Given the description of an element on the screen output the (x, y) to click on. 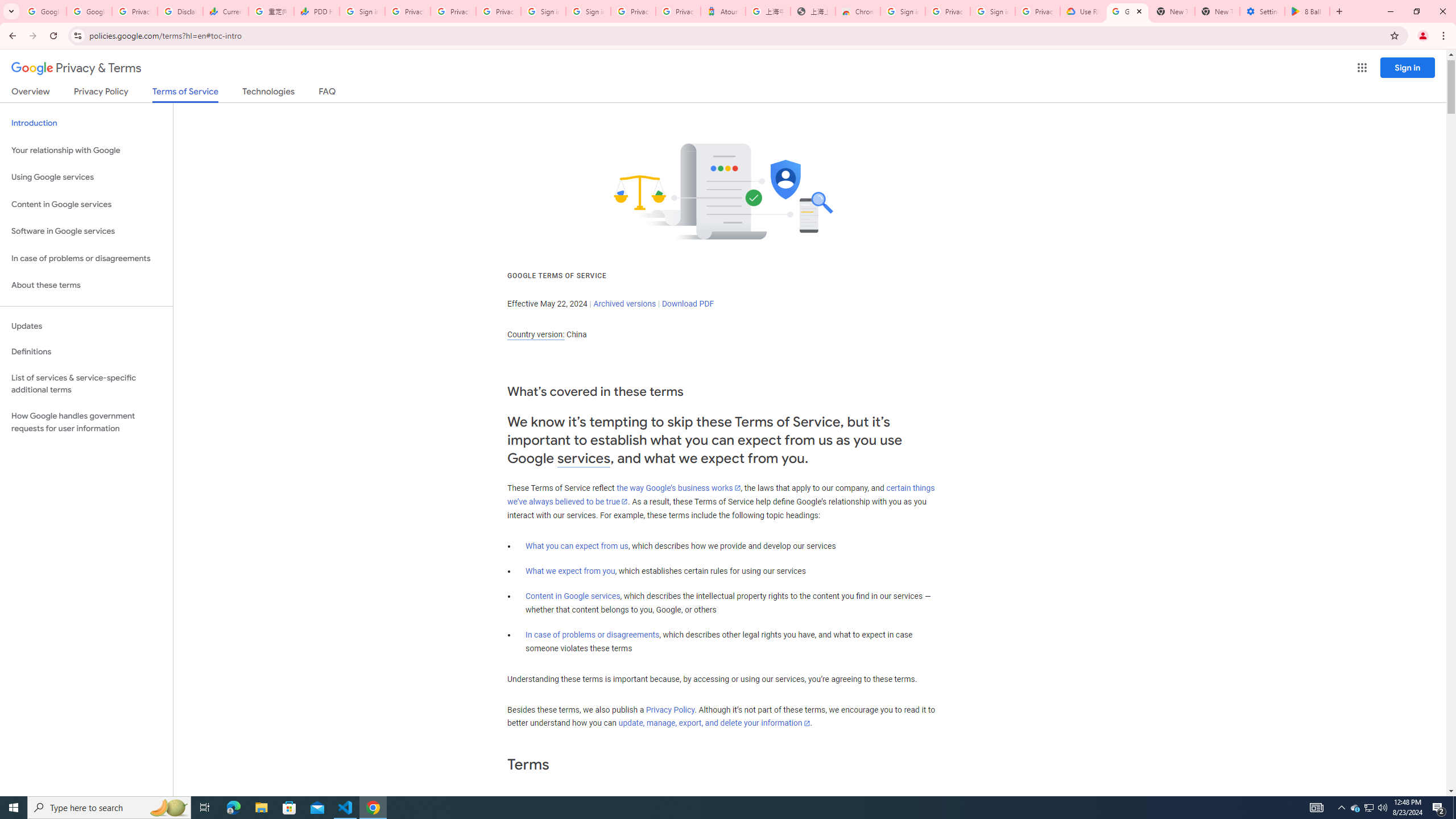
8 Ball Pool - Apps on Google Play (1307, 11)
Sign in - Google Accounts (542, 11)
Country version: (535, 334)
Atour Hotel - Google hotels (723, 11)
